Given the description of an element on the screen output the (x, y) to click on. 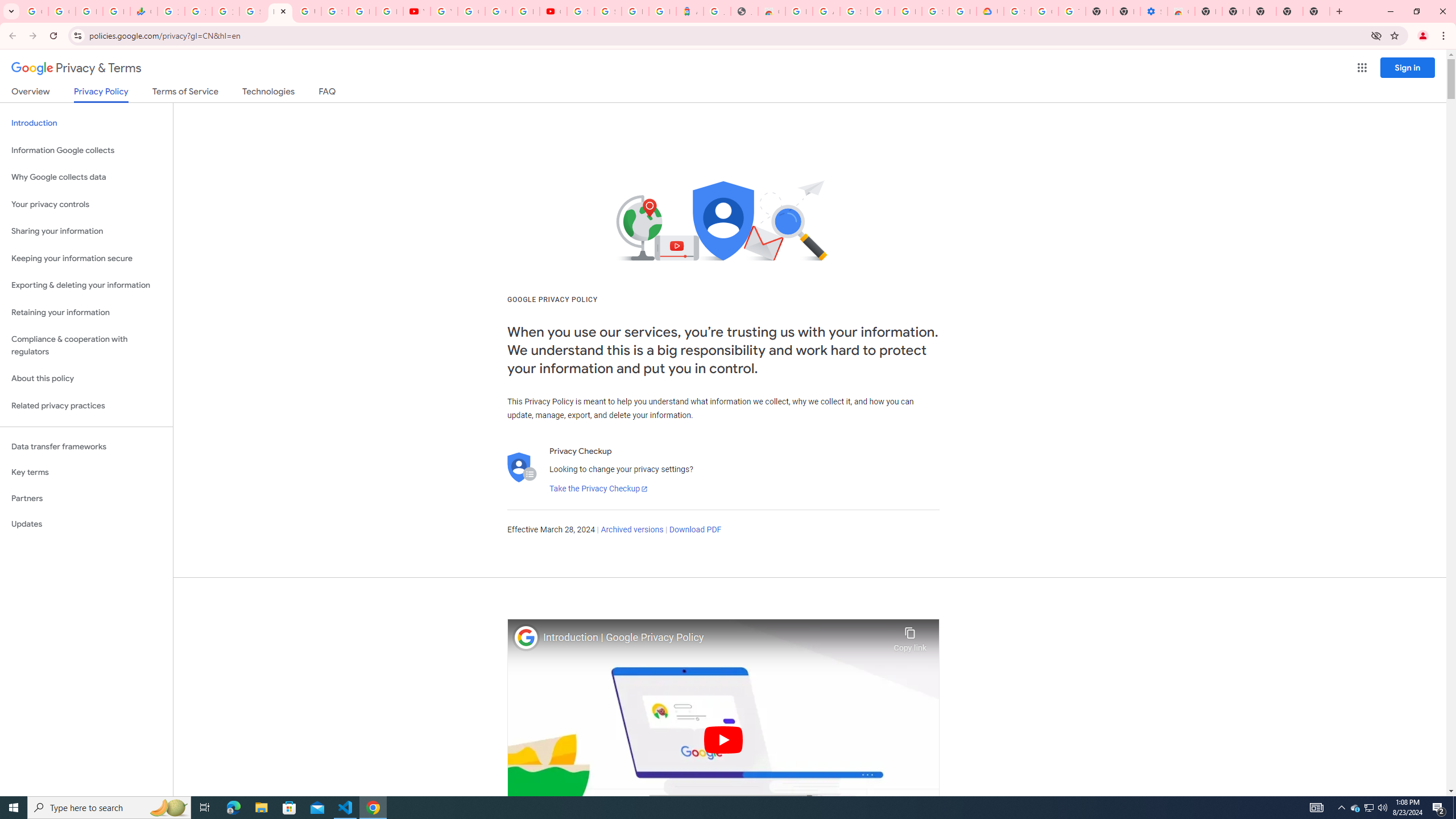
Chrome Web Store - Household (771, 11)
Atour Hotel - Google hotels (690, 11)
